Given the description of an element on the screen output the (x, y) to click on. 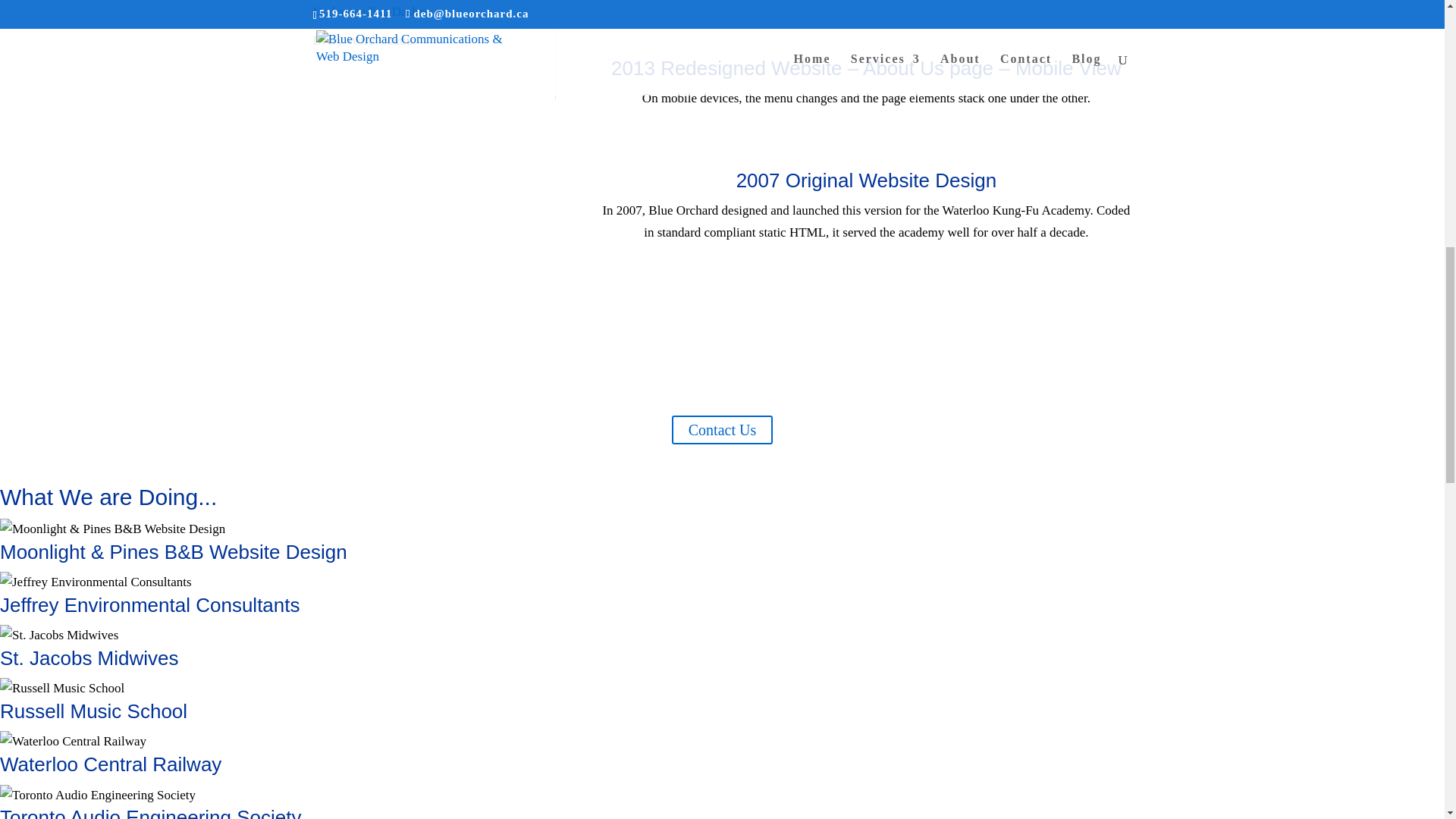
Understanding Dashes (370, 11)
Contact Us (722, 429)
Every Word Counts (363, 40)
